Given the description of an element on the screen output the (x, y) to click on. 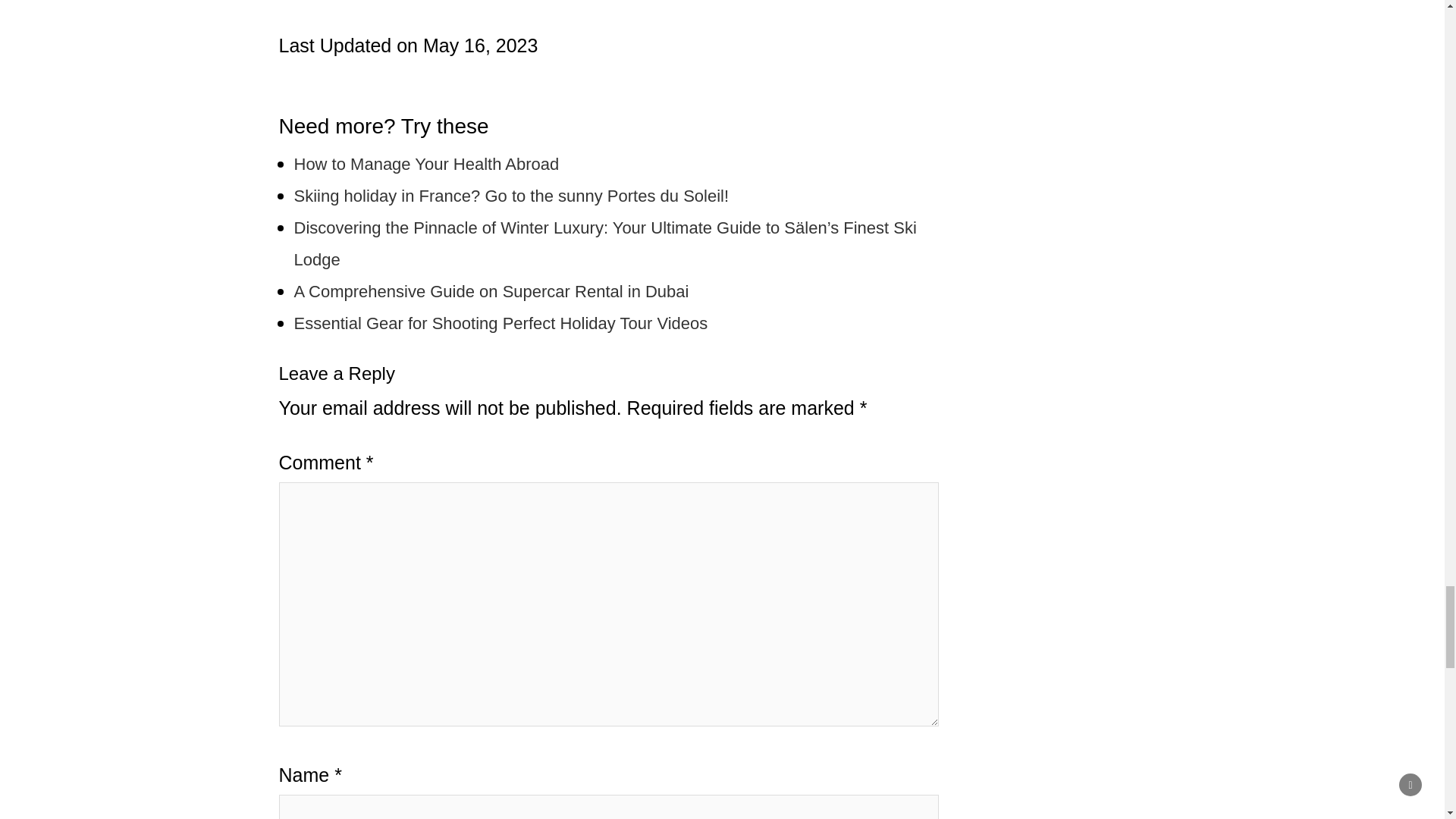
A Comprehensive Guide on Supercar Rental in Dubai (491, 291)
How to Manage Your Health Abroad (426, 163)
Skiing holiday in France? Go to the sunny Portes du Soleil! (511, 195)
Essential Gear for Shooting Perfect Holiday Tour Videos (500, 322)
